Given the description of an element on the screen output the (x, y) to click on. 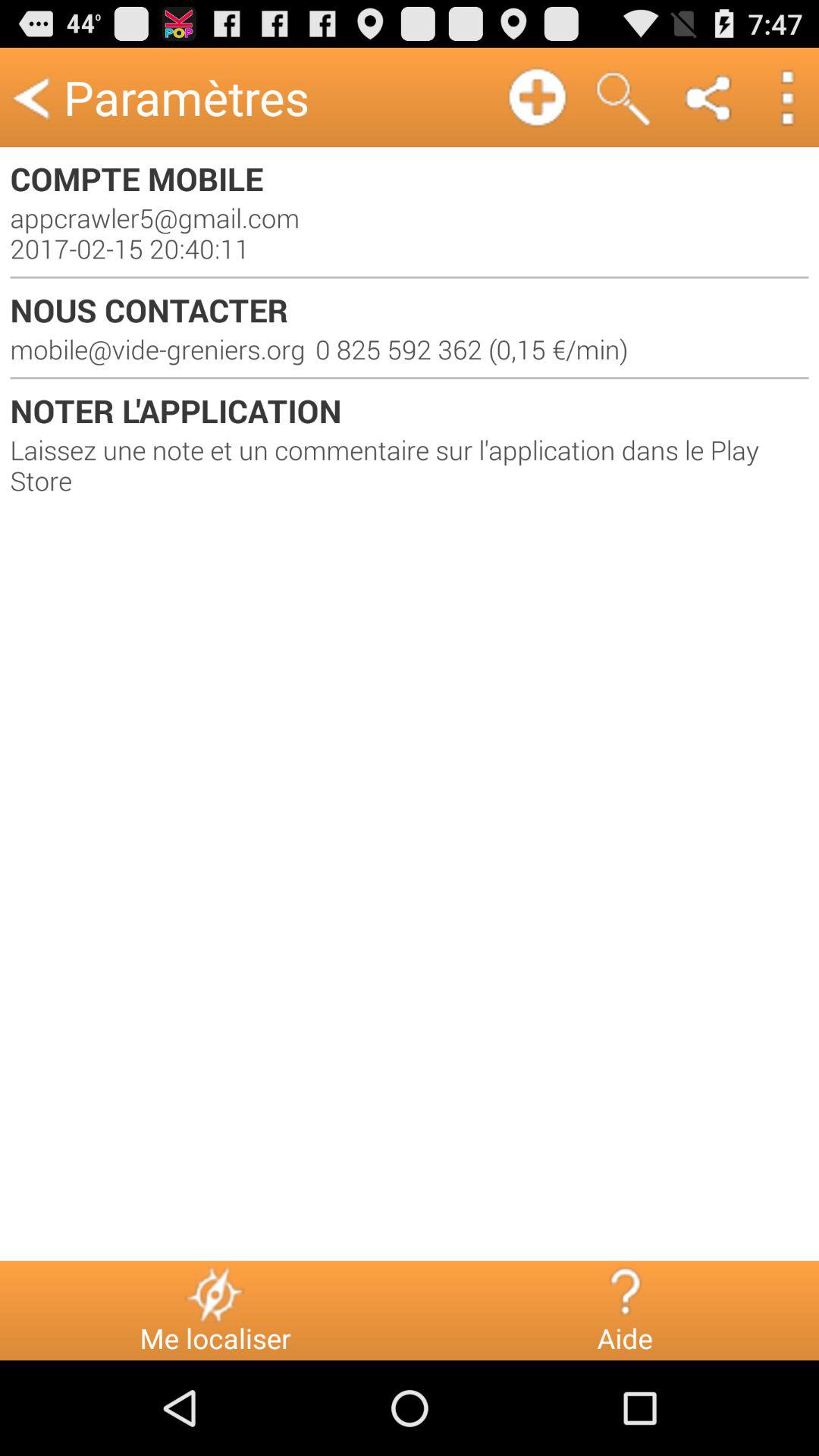
turn on icon above the compte mobile item (709, 97)
